Given the description of an element on the screen output the (x, y) to click on. 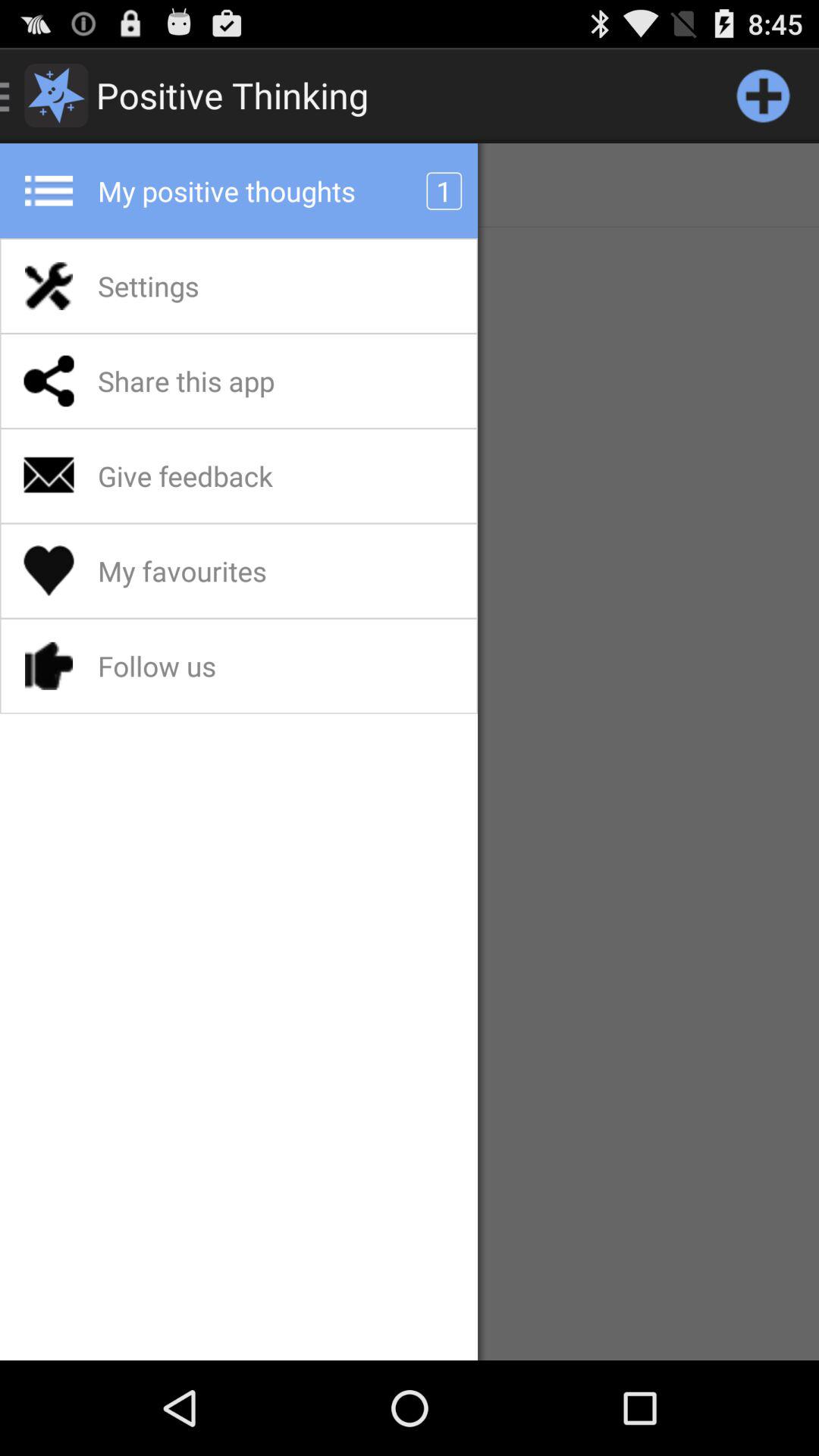
press the settings icon (187, 285)
